Given the description of an element on the screen output the (x, y) to click on. 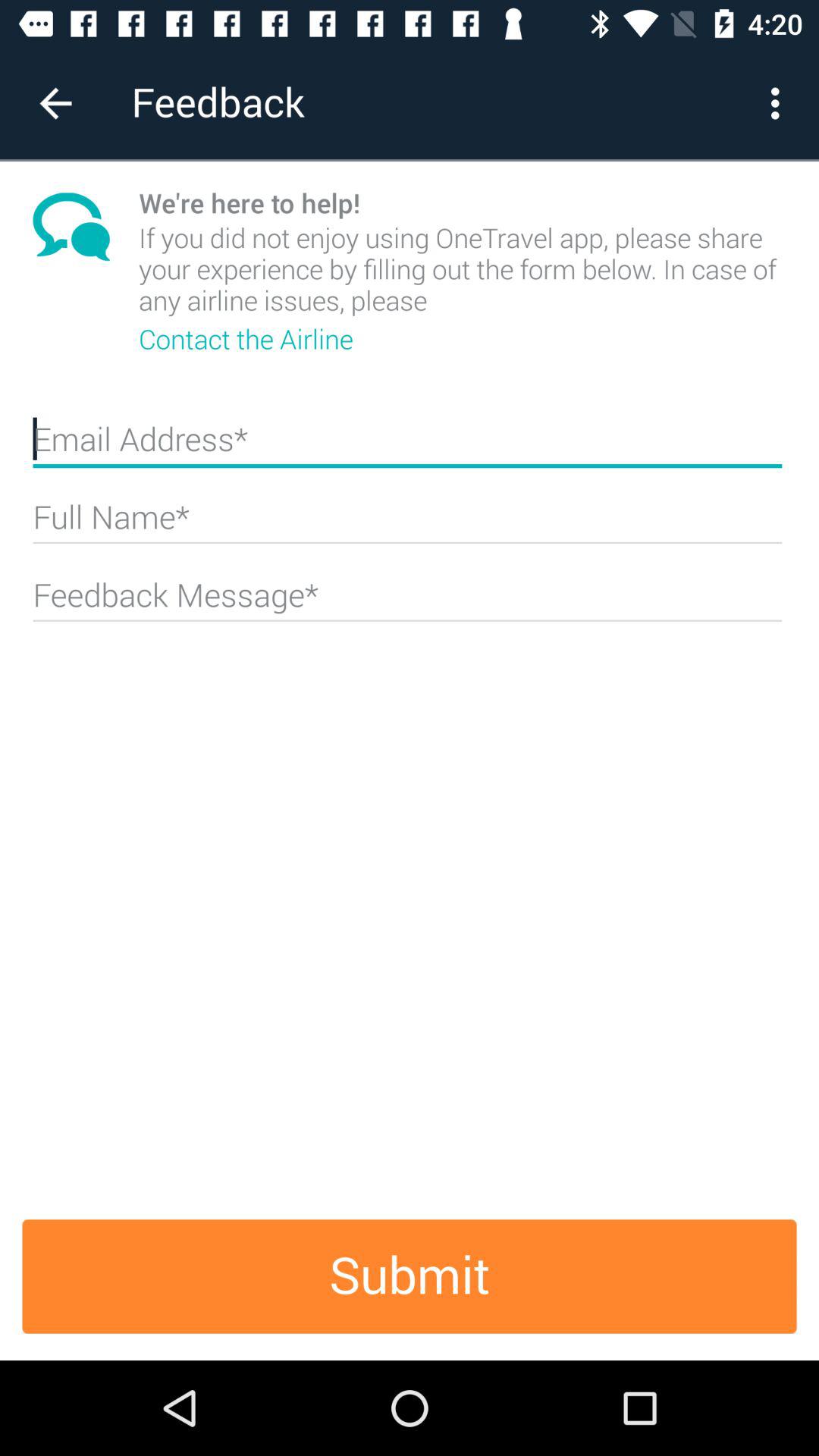
open submit item (409, 1276)
